Given the description of an element on the screen output the (x, y) to click on. 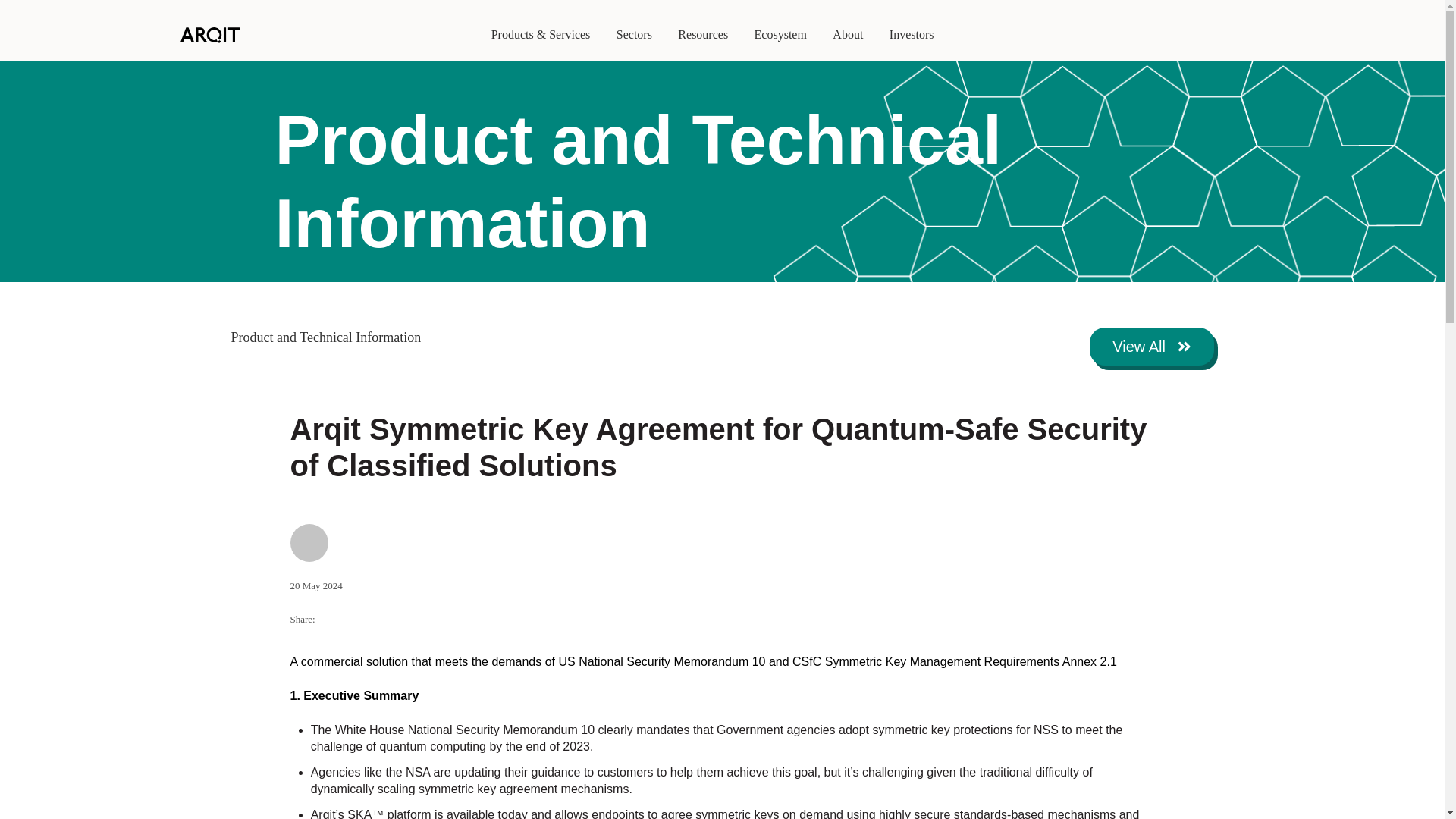
Sectors (633, 34)
About (847, 34)
Ecosystem (780, 34)
Resources (703, 34)
Investors (911, 34)
